Given the description of an element on the screen output the (x, y) to click on. 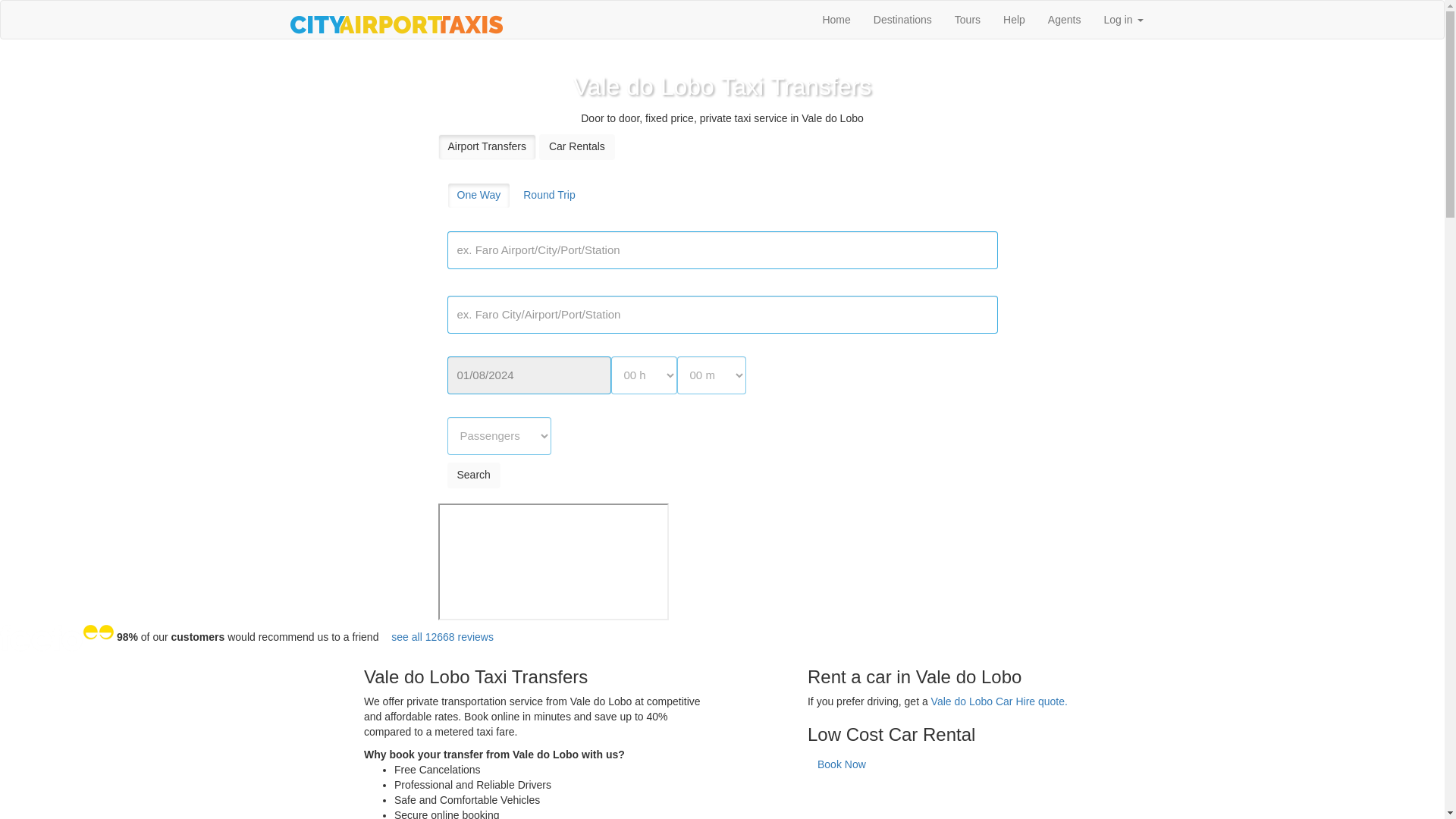
Destinations (902, 19)
Round Trip (549, 195)
Book Now (842, 765)
Home (835, 19)
Tours (967, 19)
Car Rentals (576, 146)
Agents (1064, 19)
Log in (1123, 19)
One Way (478, 195)
see all 12668 reviews (442, 637)
Search (473, 475)
Vale do Lobo Car Hire quote. (999, 701)
Airport Transfers (486, 146)
Help (1013, 19)
